Given the description of an element on the screen output the (x, y) to click on. 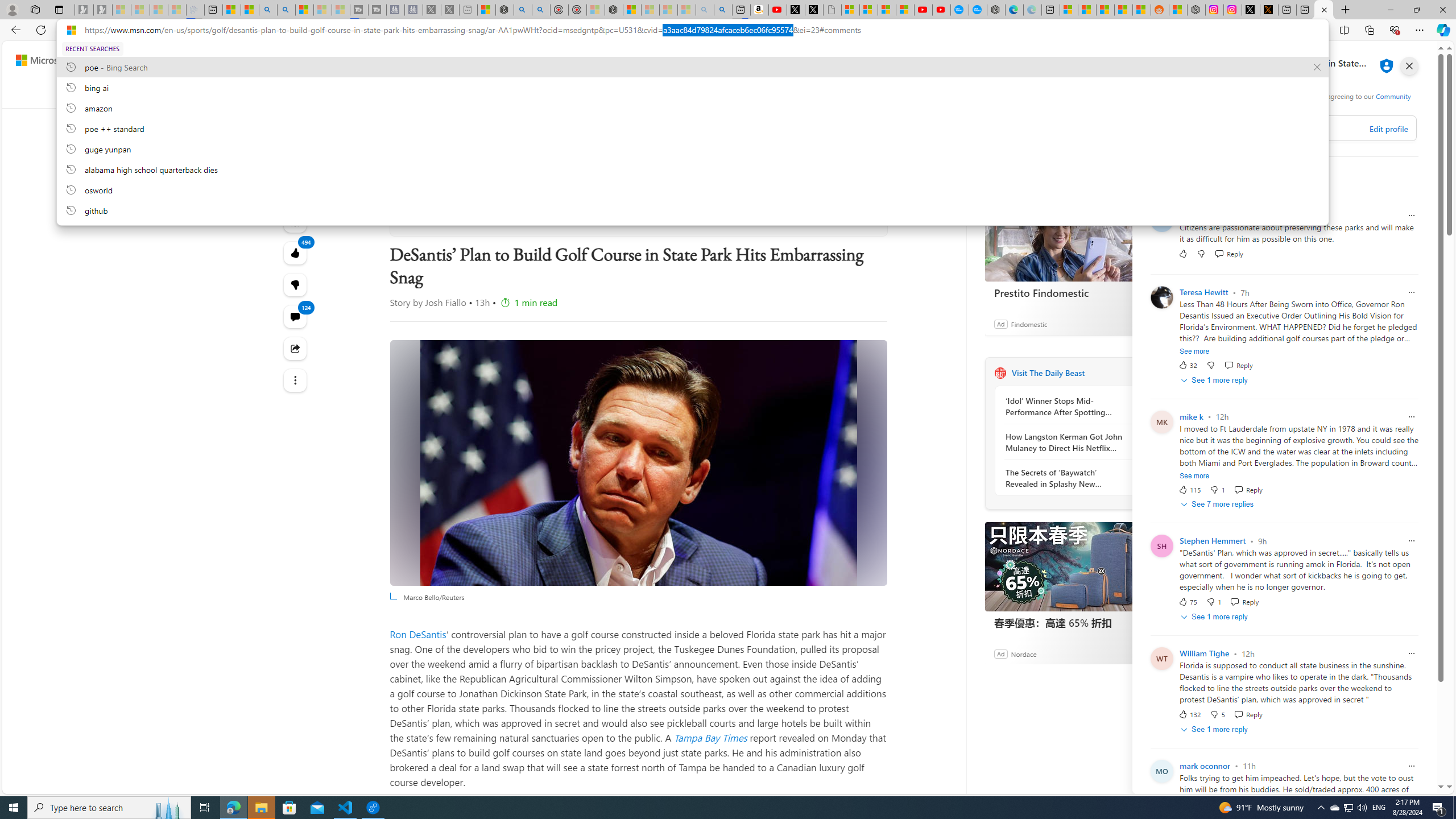
Gloom - YouTube (923, 9)
The Daily Beast (446, 215)
Feedback (1402, 784)
WNBA (749, 92)
Class: button-glyph (287, 92)
Nordace - Summer Adventures 2024 (1195, 9)
MMA / UFC (911, 92)
